Given the description of an element on the screen output the (x, y) to click on. 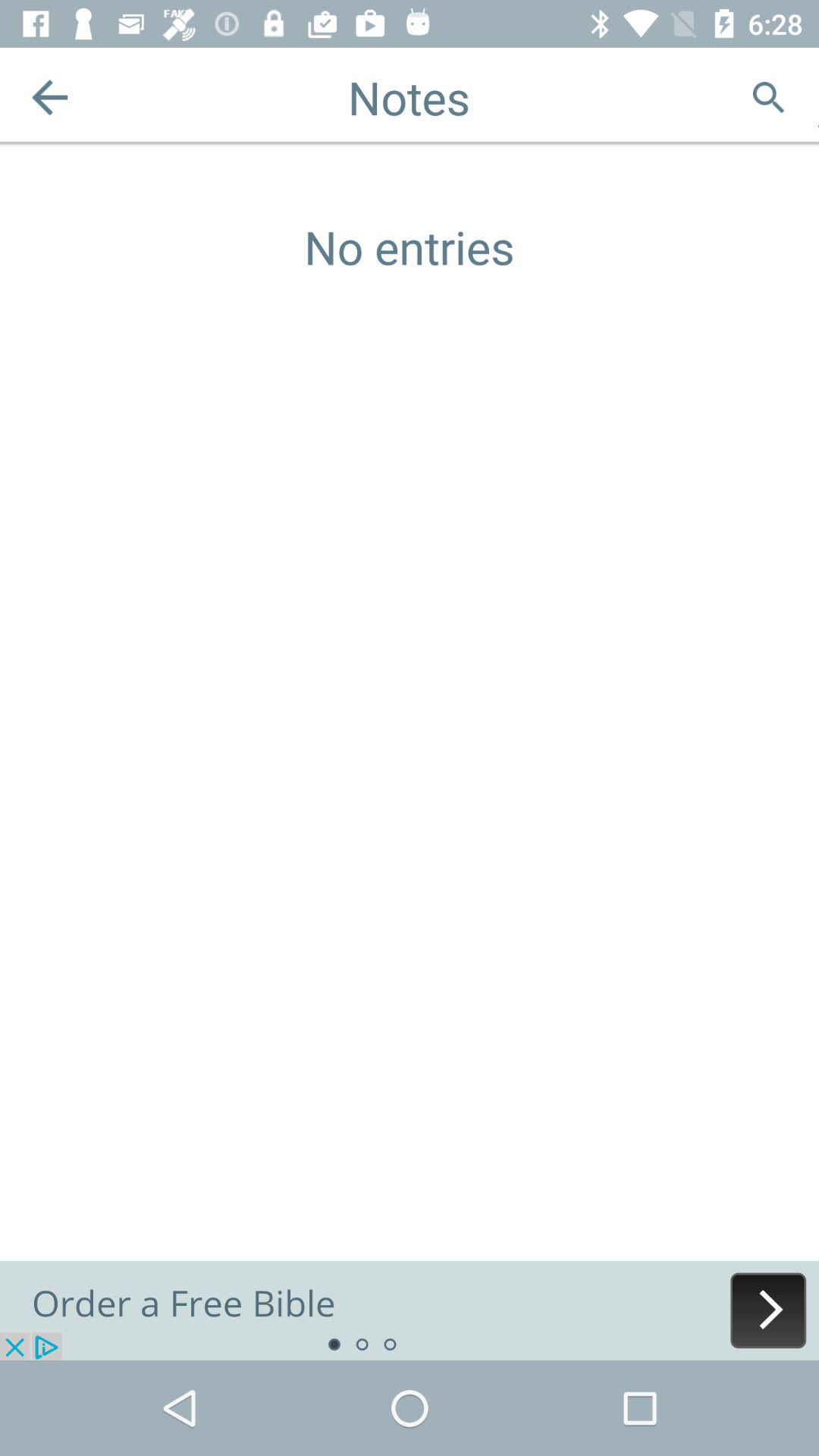
seacher (768, 97)
